Given the description of an element on the screen output the (x, y) to click on. 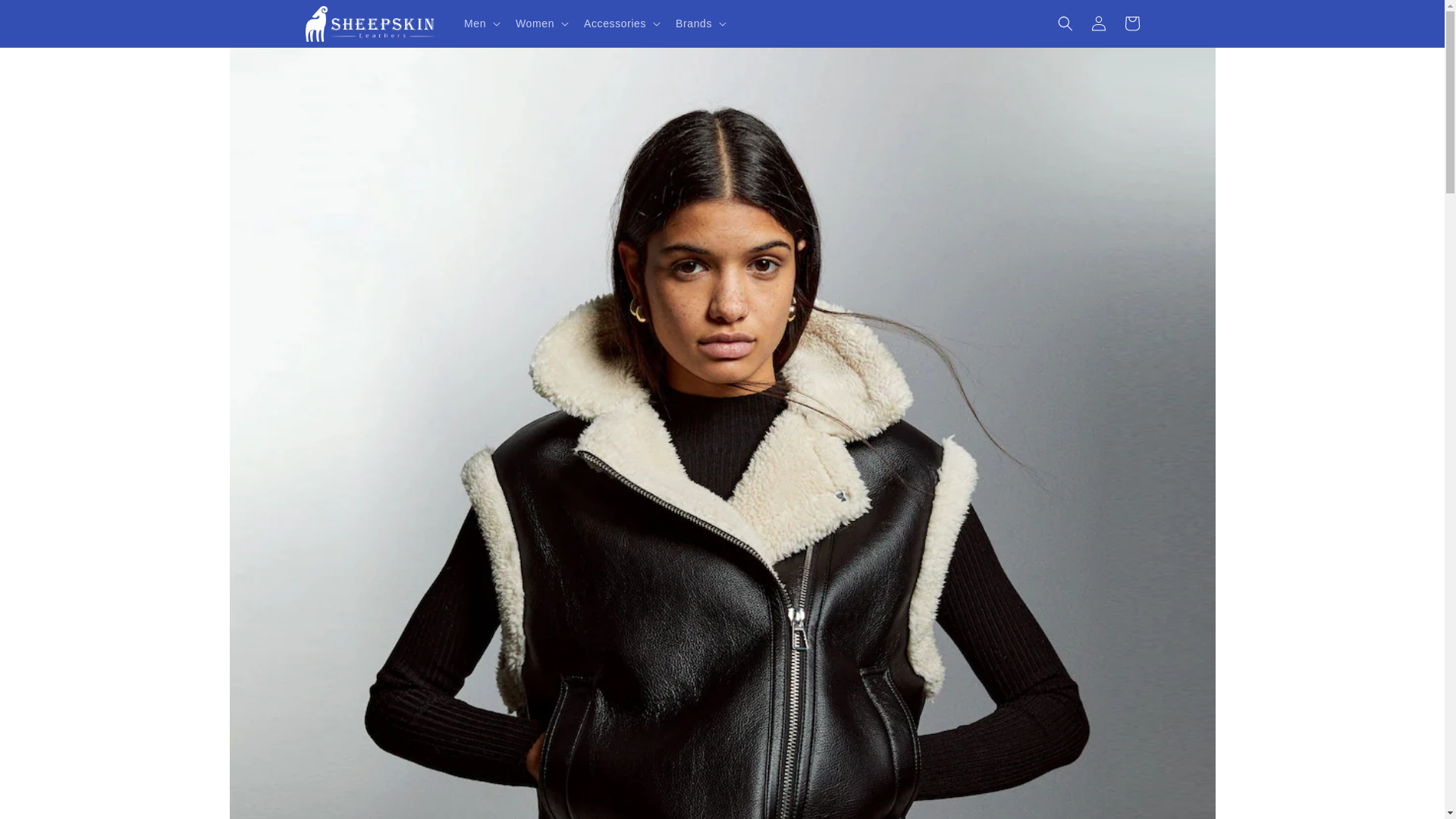
Skip to content (45, 17)
